Given the description of an element on the screen output the (x, y) to click on. 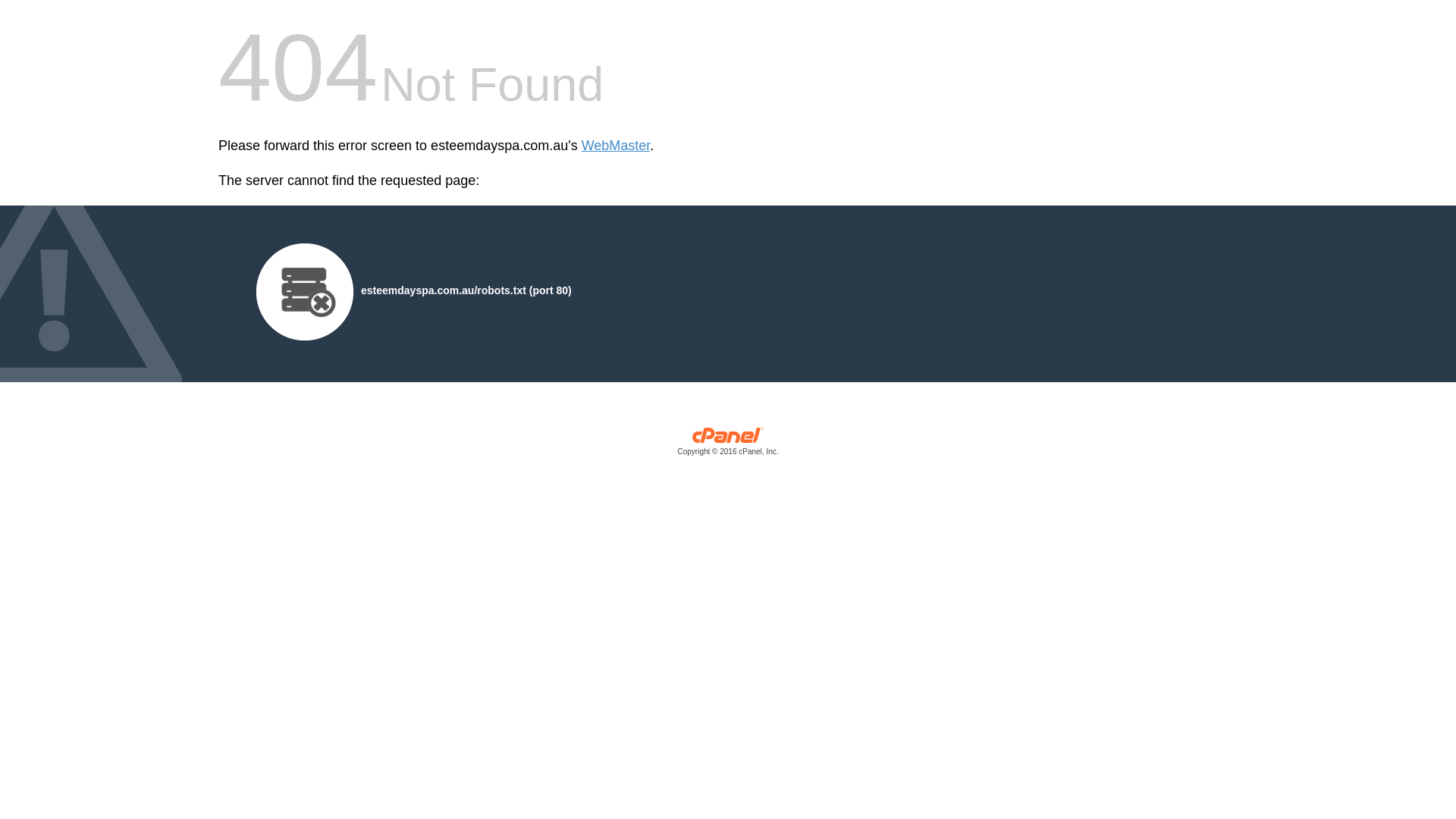
WebMaster Element type: text (615, 145)
